Given the description of an element on the screen output the (x, y) to click on. 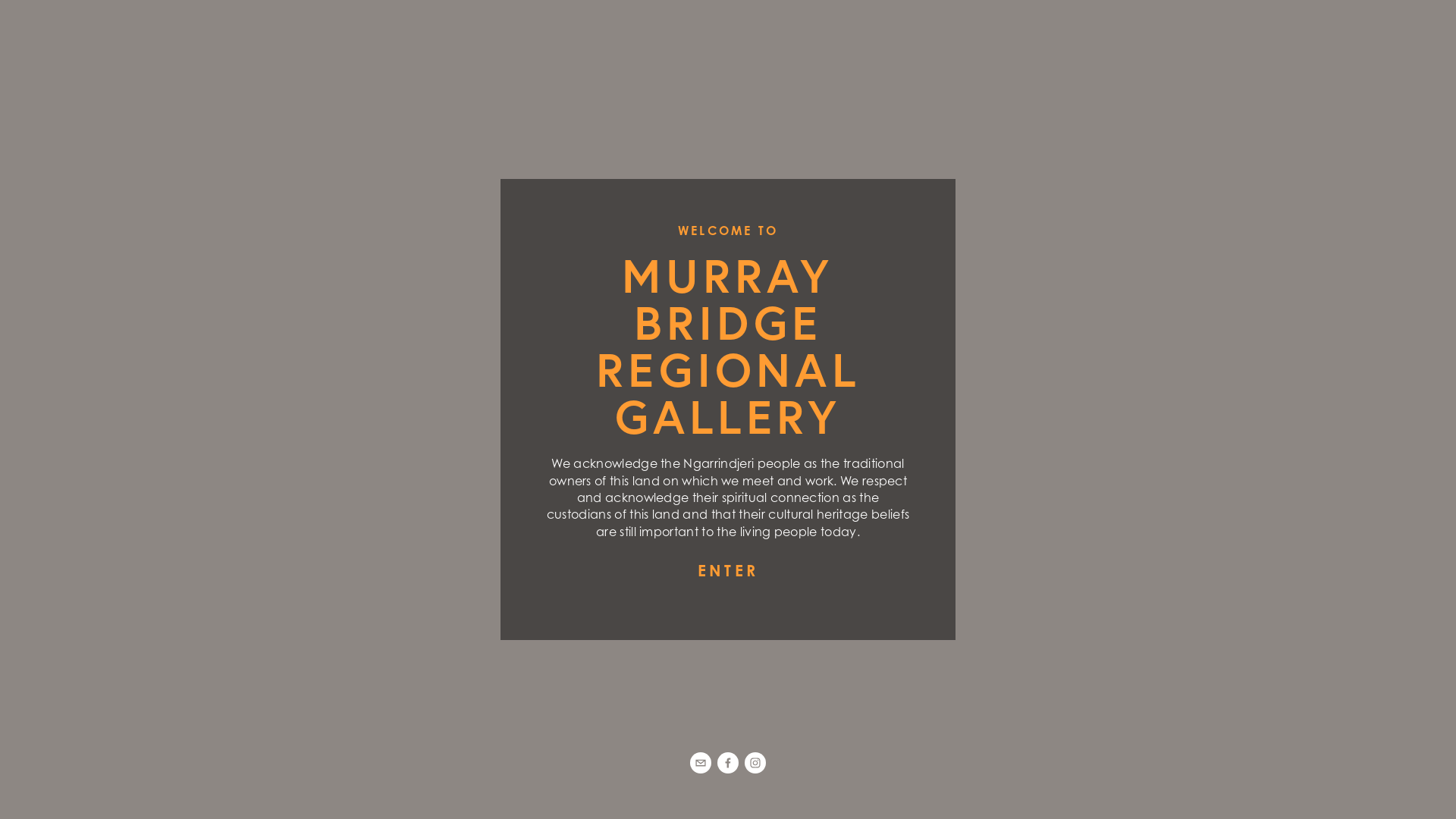
ENTER Element type: text (727, 570)
